Given the description of an element on the screen output the (x, y) to click on. 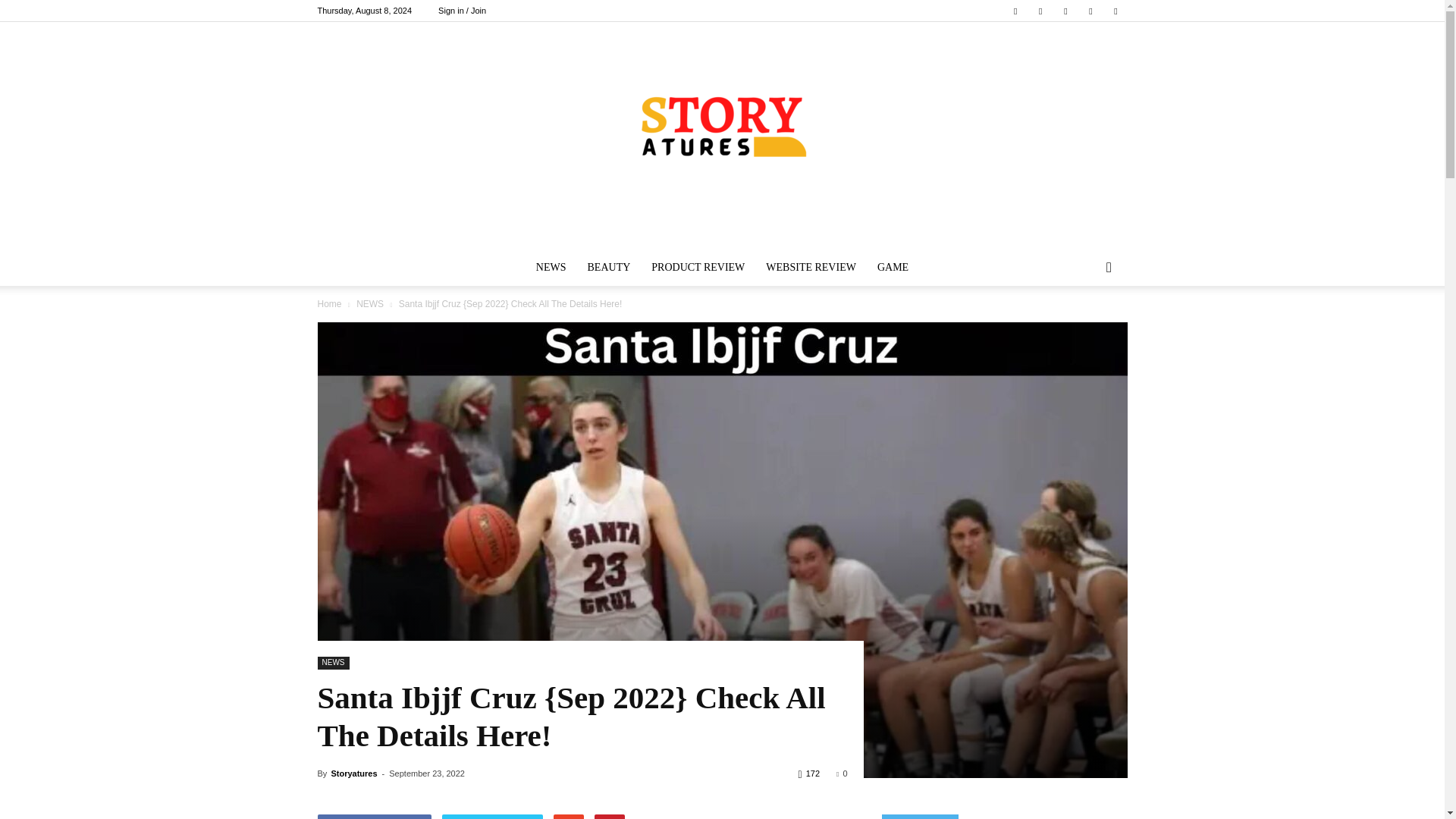
VKontakte (1090, 10)
WEBSITE REVIEW (810, 267)
Home (328, 303)
GAME (892, 267)
BEAUTY (609, 267)
PRODUCT REVIEW (697, 267)
View all posts in NEWS (370, 303)
Vimeo (1065, 10)
Facebook (1015, 10)
